Given the description of an element on the screen output the (x, y) to click on. 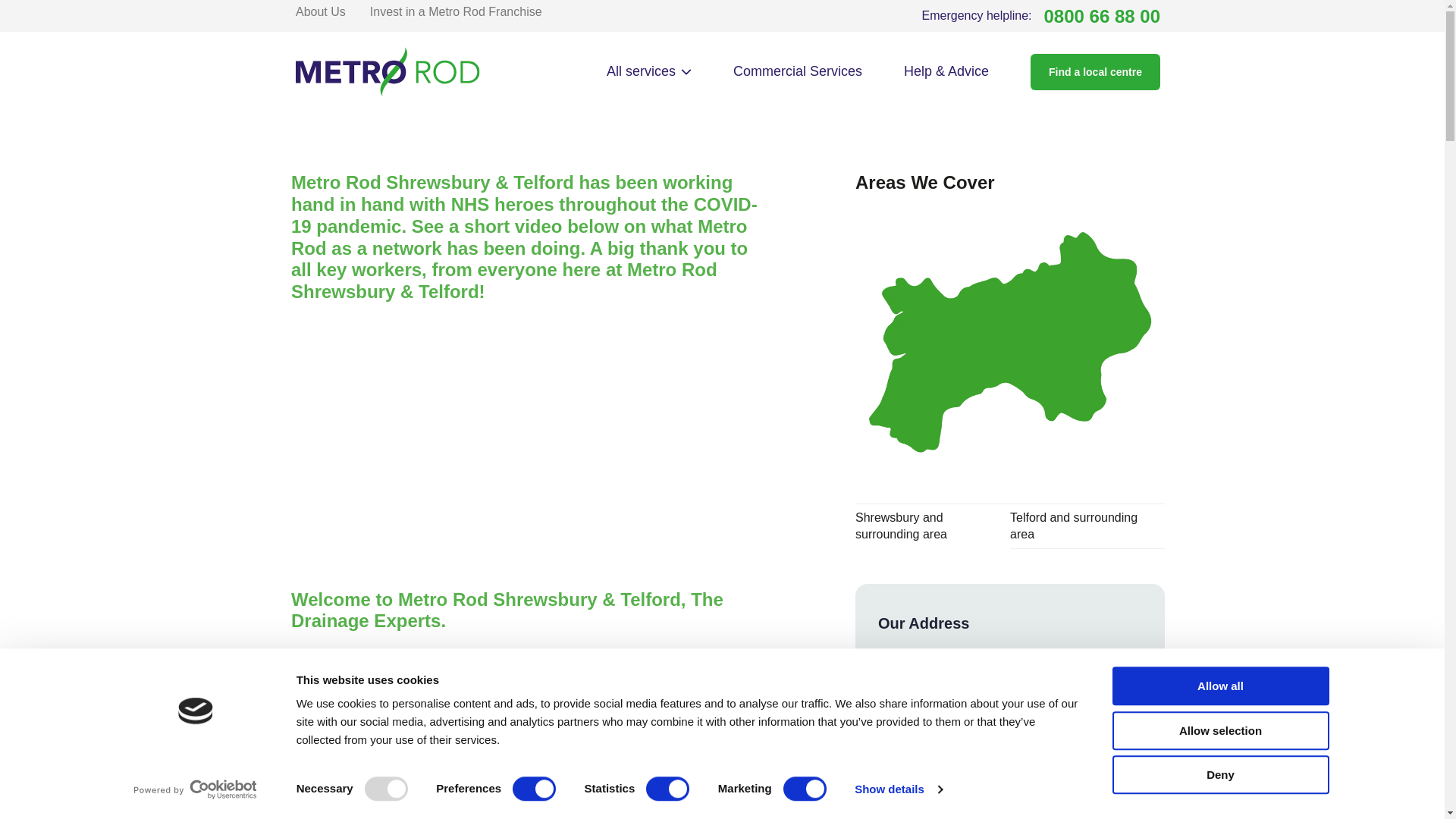
Show details (898, 789)
